Given the description of an element on the screen output the (x, y) to click on. 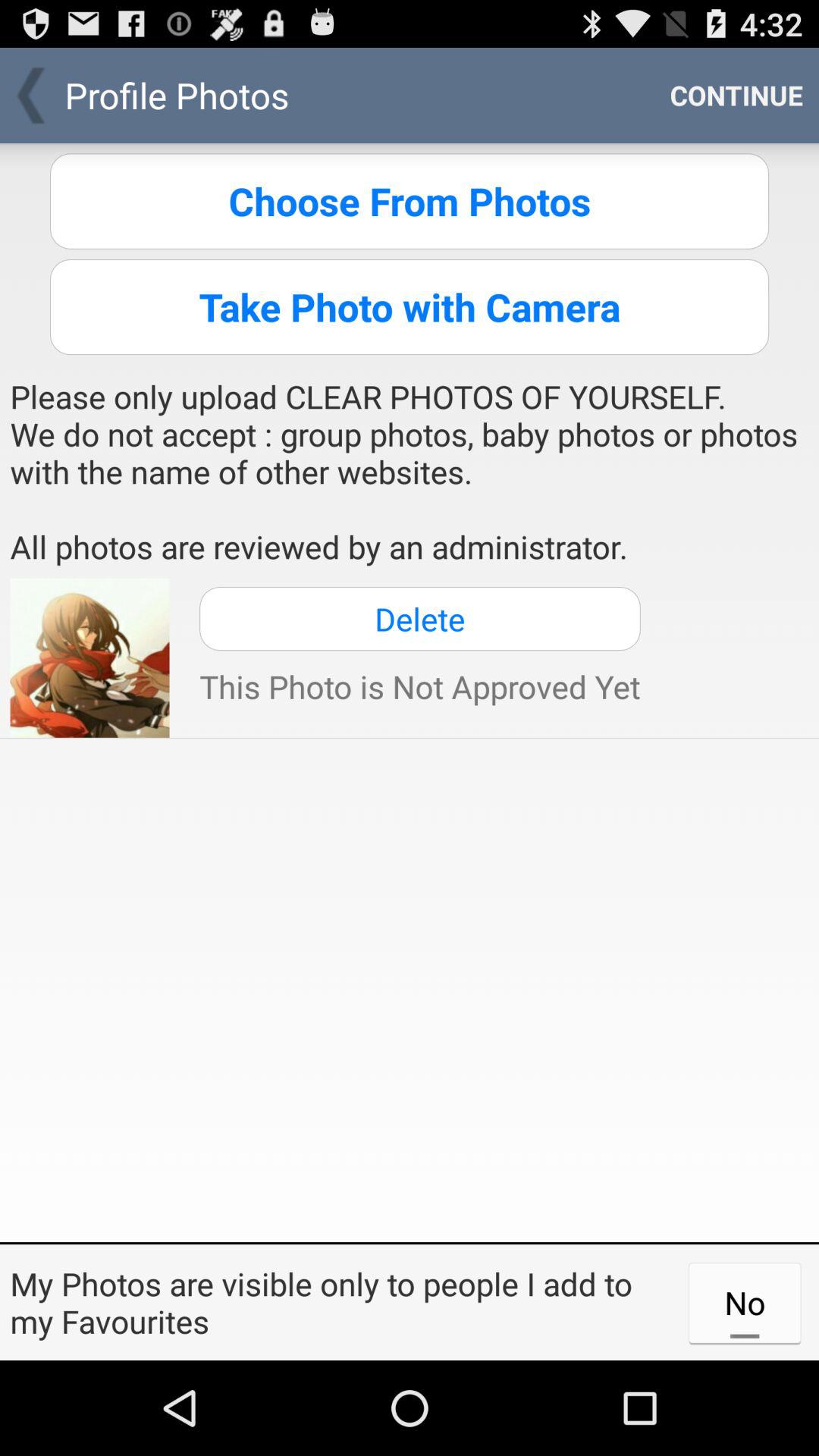
choose delete item (419, 618)
